Given the description of an element on the screen output the (x, y) to click on. 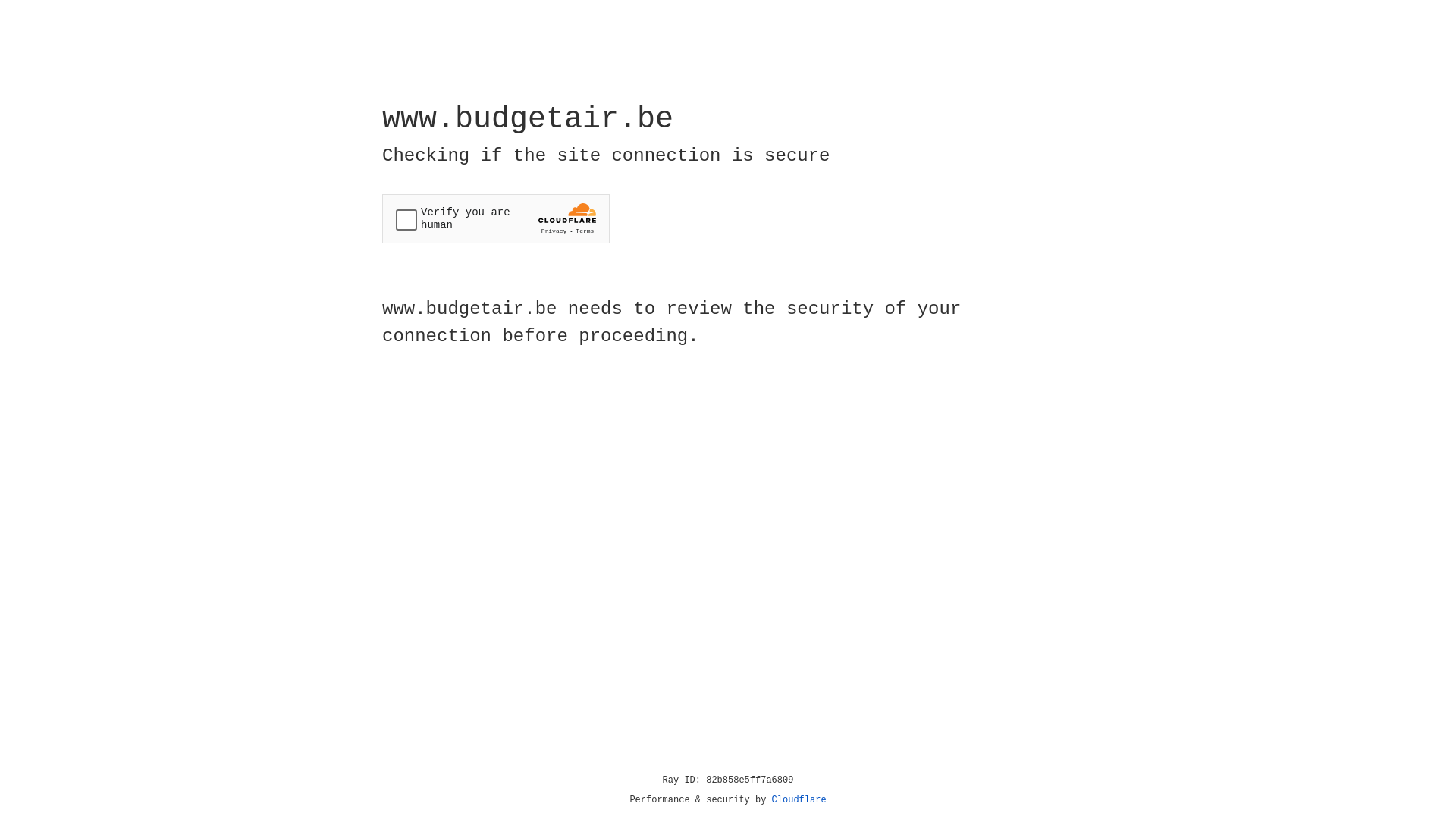
Cloudflare Element type: text (798, 799)
Widget containing a Cloudflare security challenge Element type: hover (495, 218)
